Given the description of an element on the screen output the (x, y) to click on. 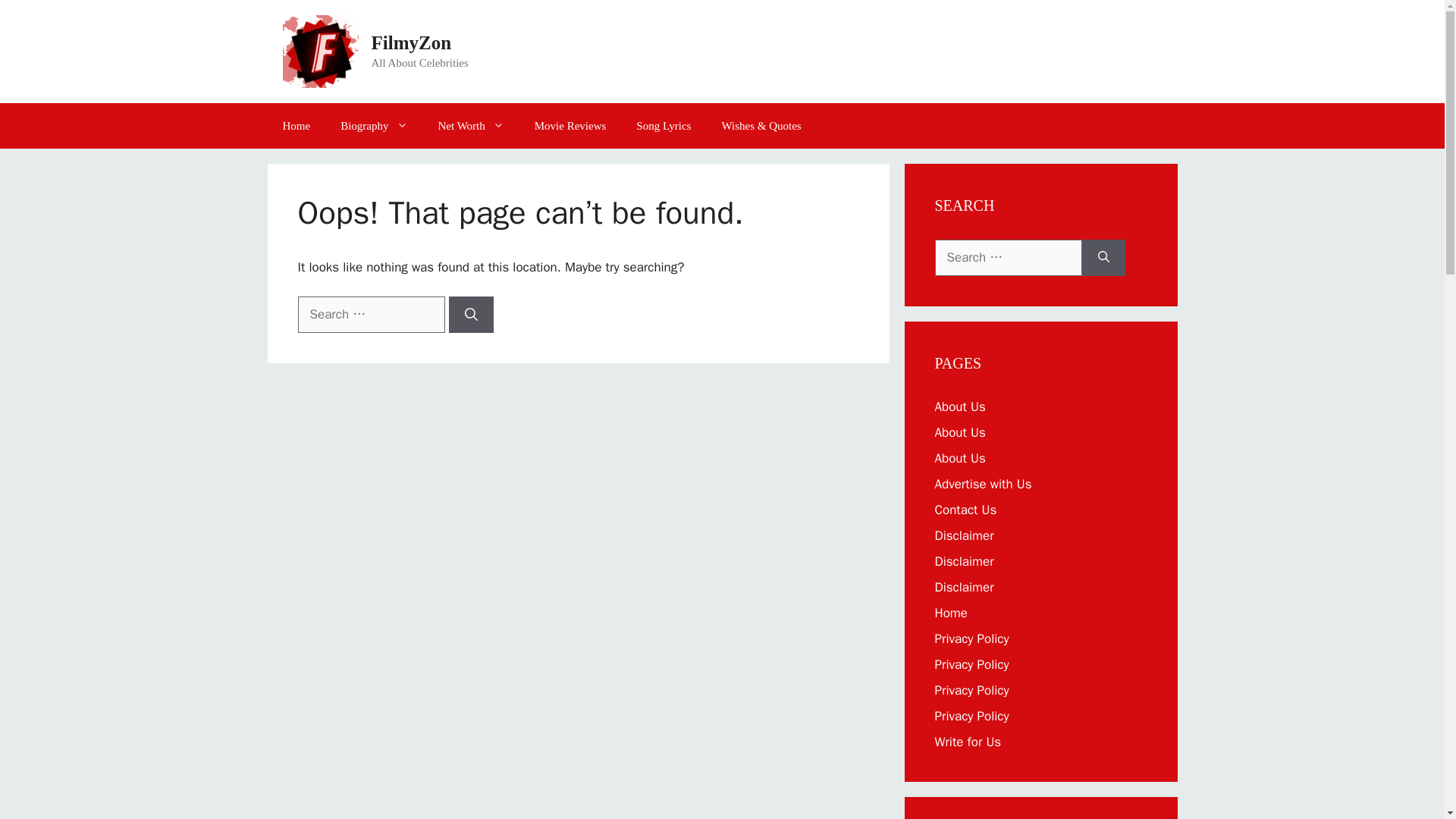
Privacy Policy (971, 638)
Home (950, 612)
About Us (959, 458)
Disclaimer (963, 535)
Net Worth (471, 125)
Write for Us (967, 741)
Contact Us (964, 509)
Biography (373, 125)
Movie Reviews (570, 125)
Privacy Policy (971, 715)
